Given the description of an element on the screen output the (x, y) to click on. 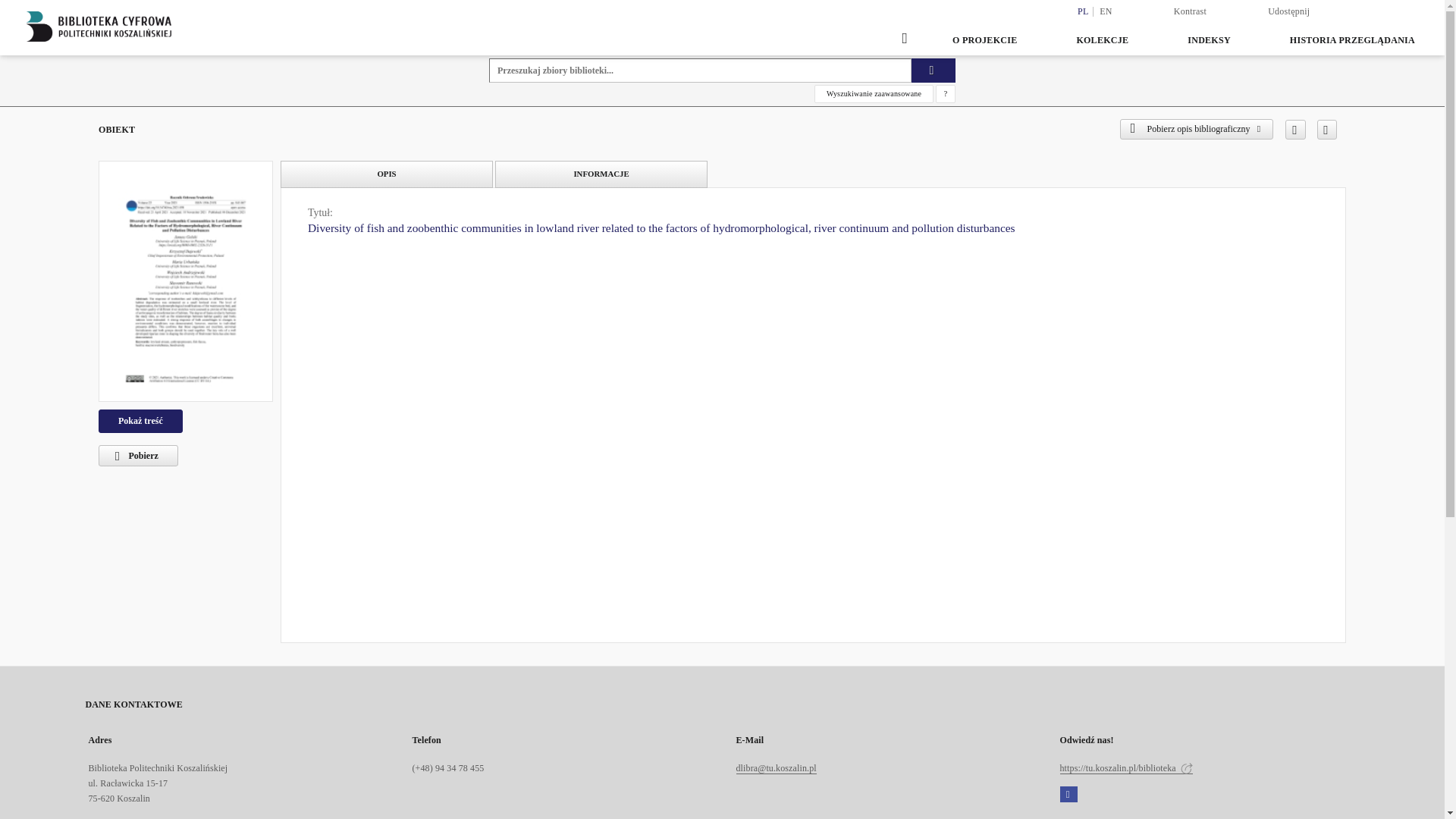
KOLEKCJE (1101, 39)
PL (1083, 11)
O PROJEKCIE (984, 39)
EN (1106, 11)
Kontrast (1189, 11)
